Given the description of an element on the screen output the (x, y) to click on. 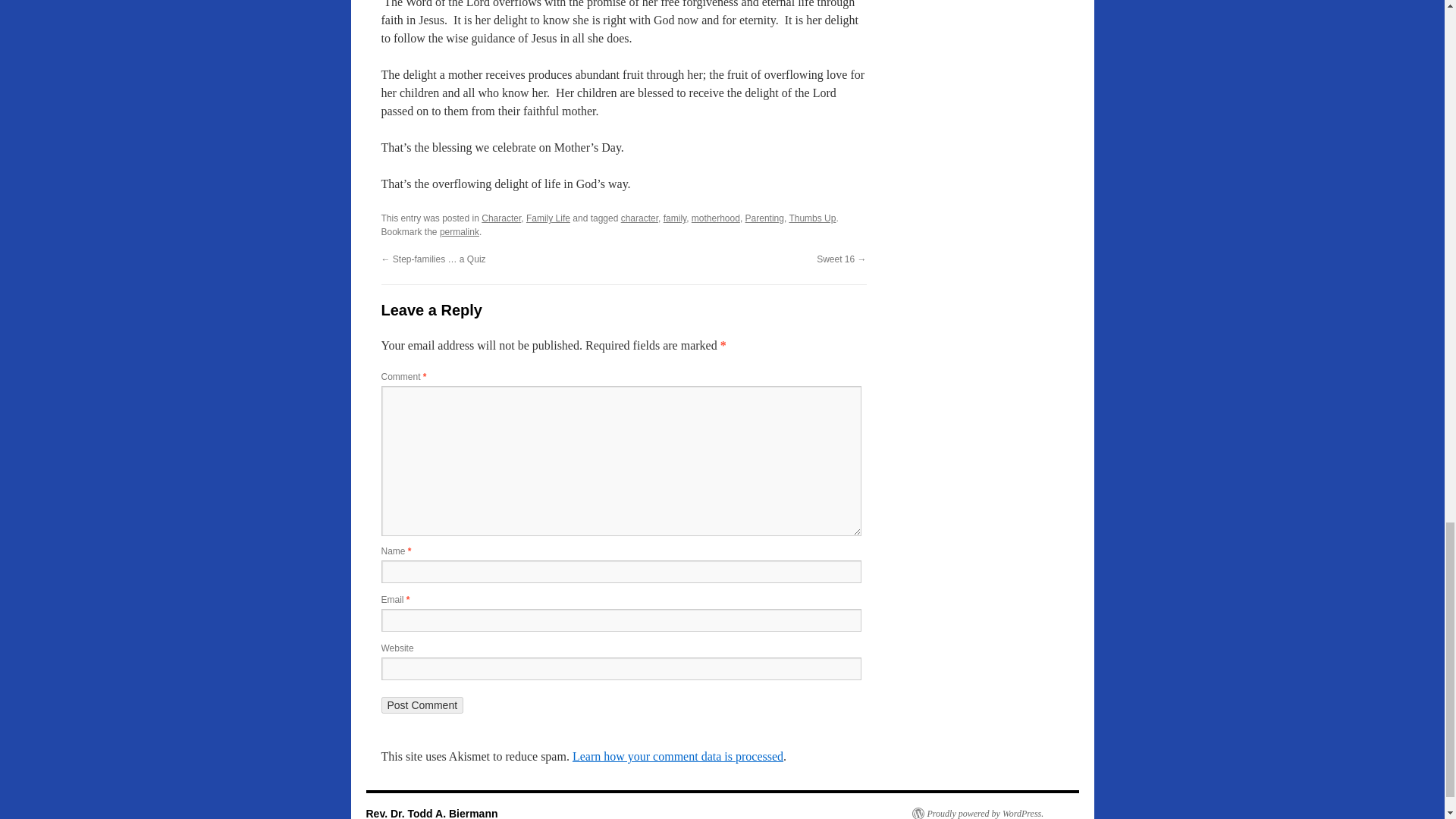
Post Comment (421, 704)
permalink (459, 231)
Character (501, 217)
Permalink to Motherhood (459, 231)
Thumbs Up (812, 217)
motherhood (715, 217)
Post Comment (421, 704)
Learn how your comment data is processed (677, 756)
character (639, 217)
Parenting (764, 217)
